Given the description of an element on the screen output the (x, y) to click on. 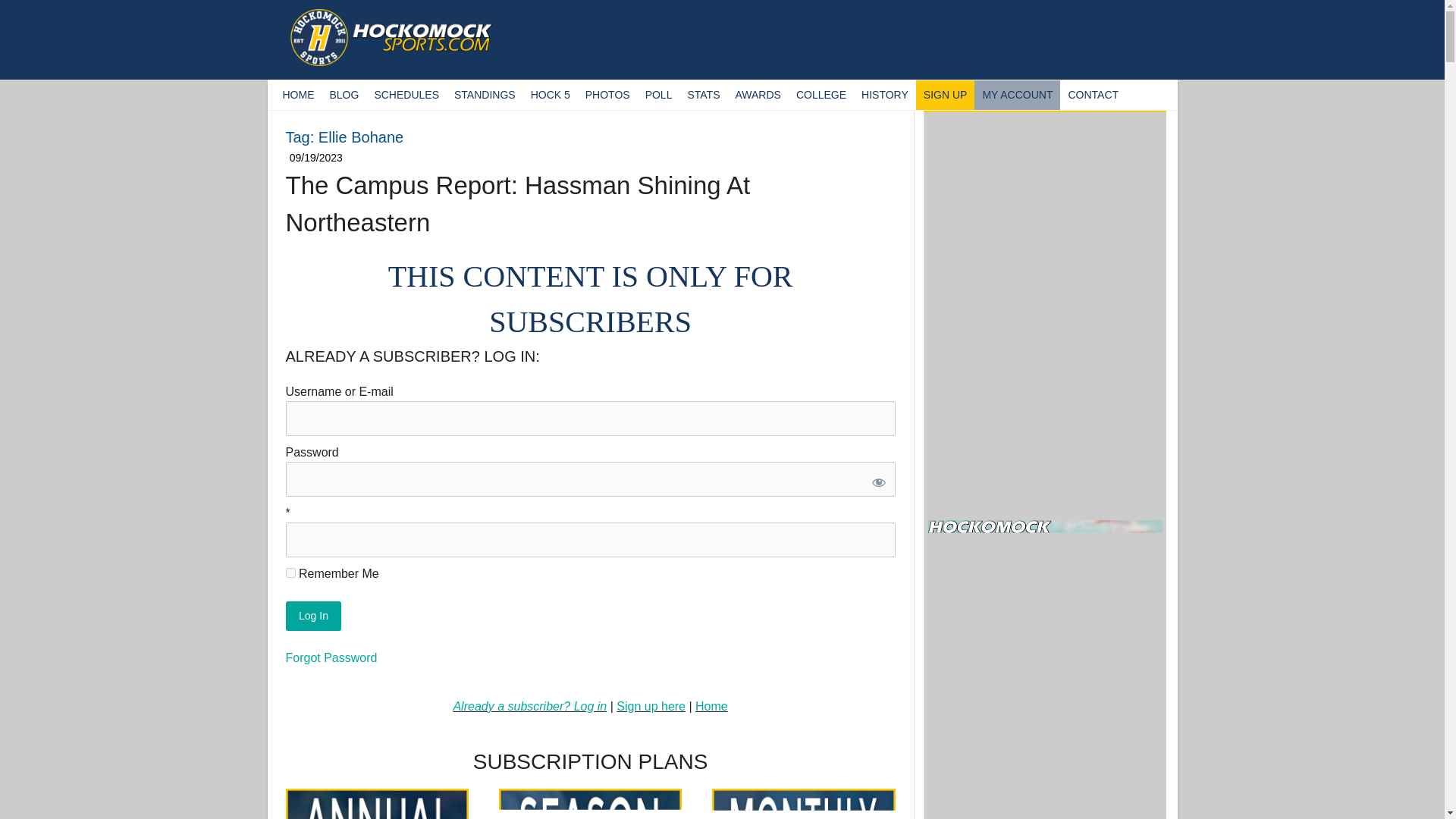
forever (290, 573)
Log In (312, 615)
MY ACCOUNT (1016, 94)
COLLEGE (821, 94)
Sign up here (650, 706)
SCHEDULES (406, 94)
BLOG (343, 94)
STATS (702, 94)
The Campus Report: Hassman Shining At Northeastern (517, 204)
CONTACT (1092, 94)
